Given the description of an element on the screen output the (x, y) to click on. 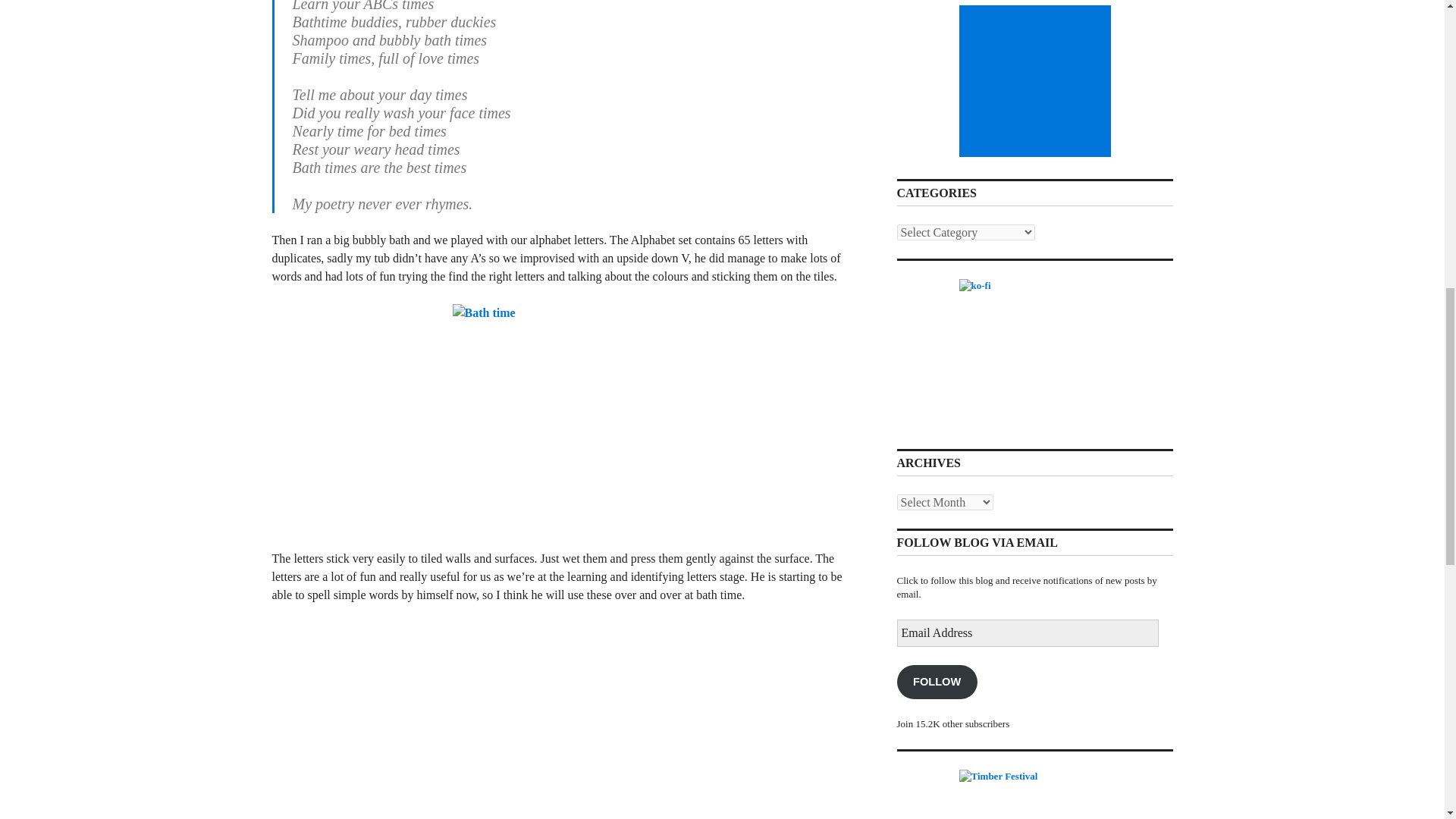
FOLLOW (936, 682)
Advertisement (1036, 80)
